Given the description of an element on the screen output the (x, y) to click on. 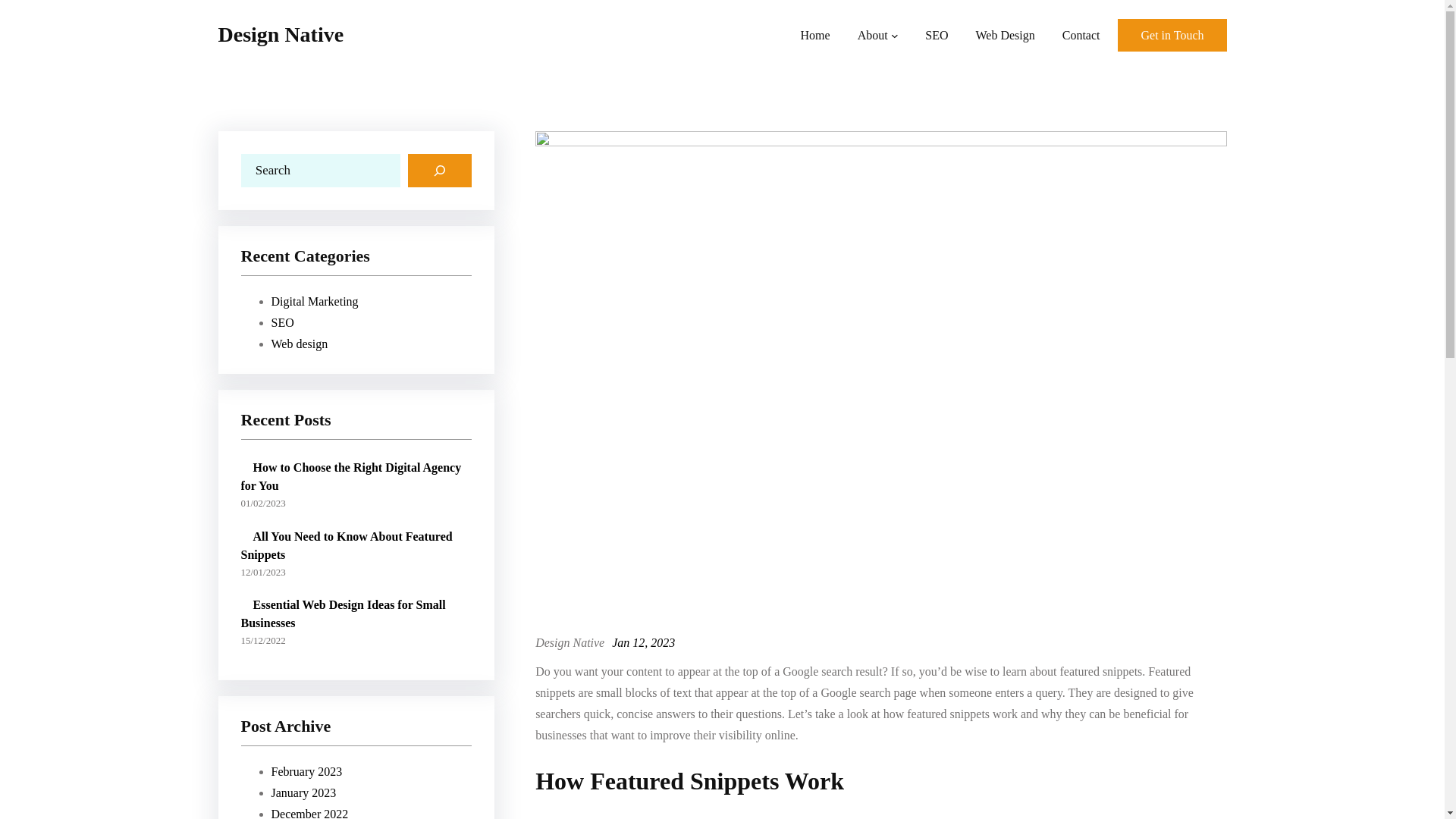
Get in Touch (1171, 34)
February 2023 (306, 771)
Design Native (280, 33)
December 2022 (309, 813)
SEO (935, 35)
Contact (1081, 35)
Home (814, 35)
Essential Web Design Ideas for Small Businesses (356, 612)
Web Design (1004, 35)
Jan 12, 2023 (643, 642)
